Given the description of an element on the screen output the (x, y) to click on. 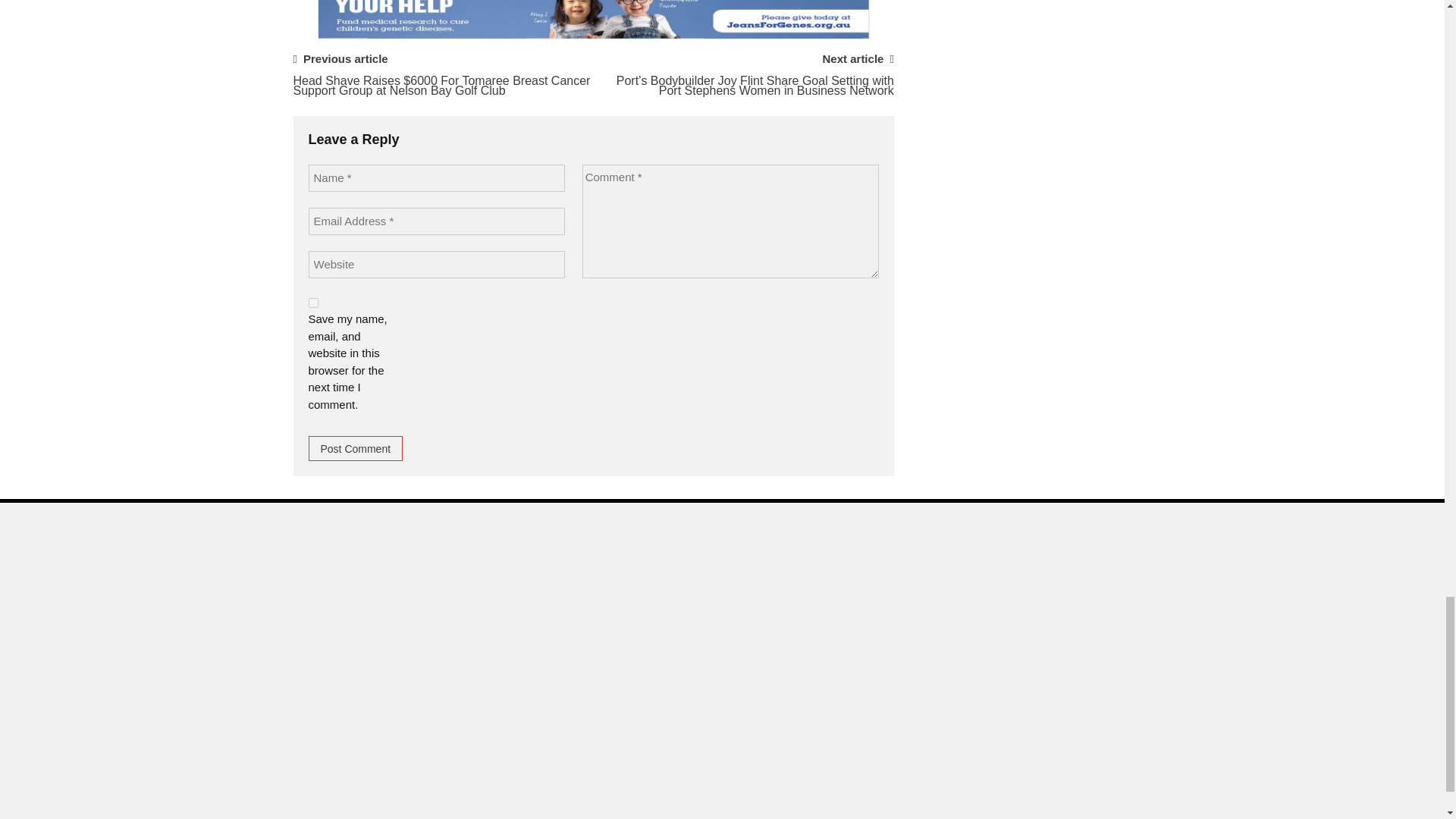
yes (312, 302)
Post Comment (355, 448)
